Given the description of an element on the screen output the (x, y) to click on. 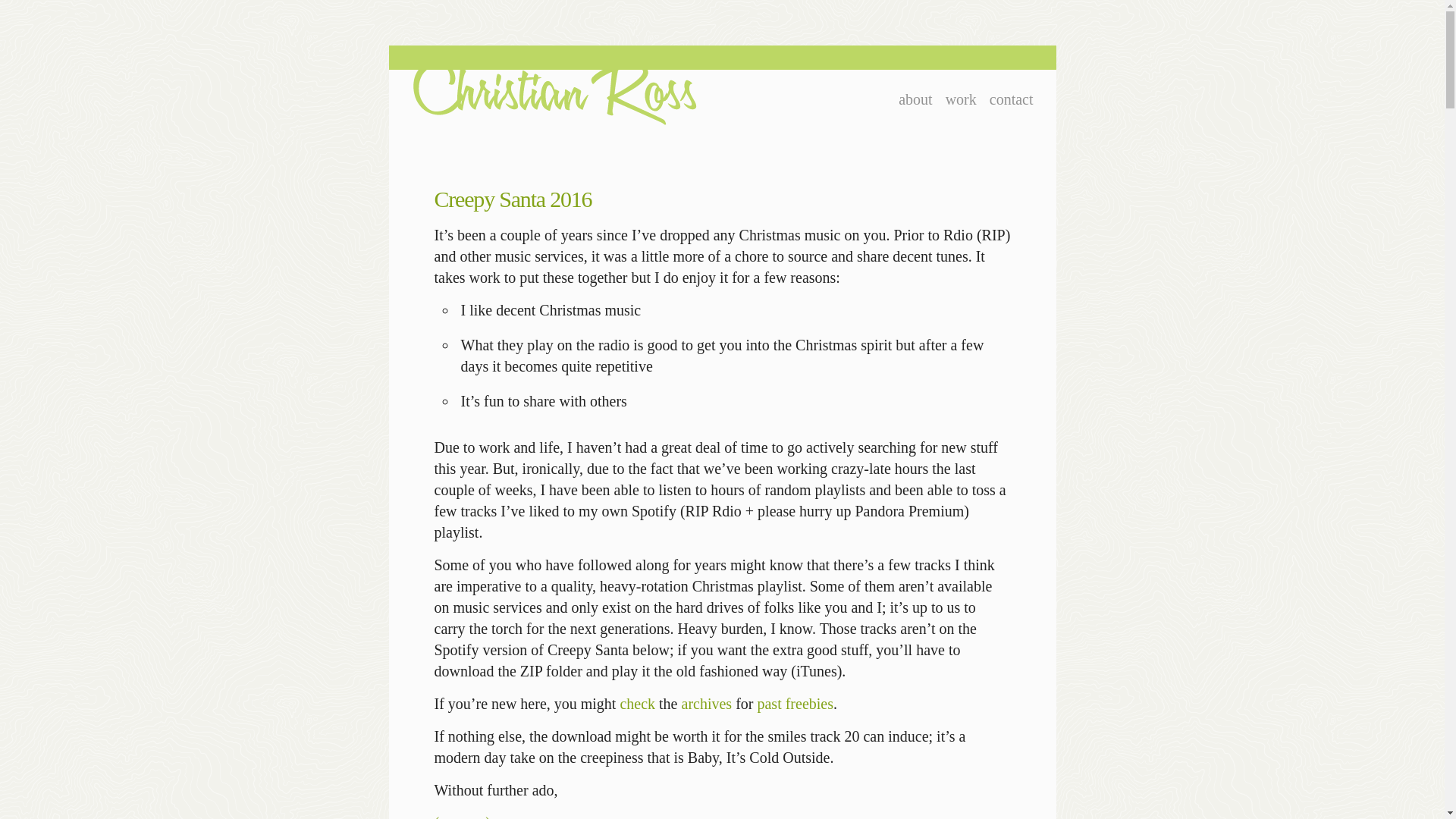
Creepy Santa 2016 (512, 198)
archives (706, 703)
check (637, 703)
past (768, 703)
Contact Christian Ross (1011, 98)
contact (1011, 98)
freebies (809, 703)
about (914, 98)
About Christian Ross (914, 98)
work (960, 98)
